Given the description of an element on the screen output the (x, y) to click on. 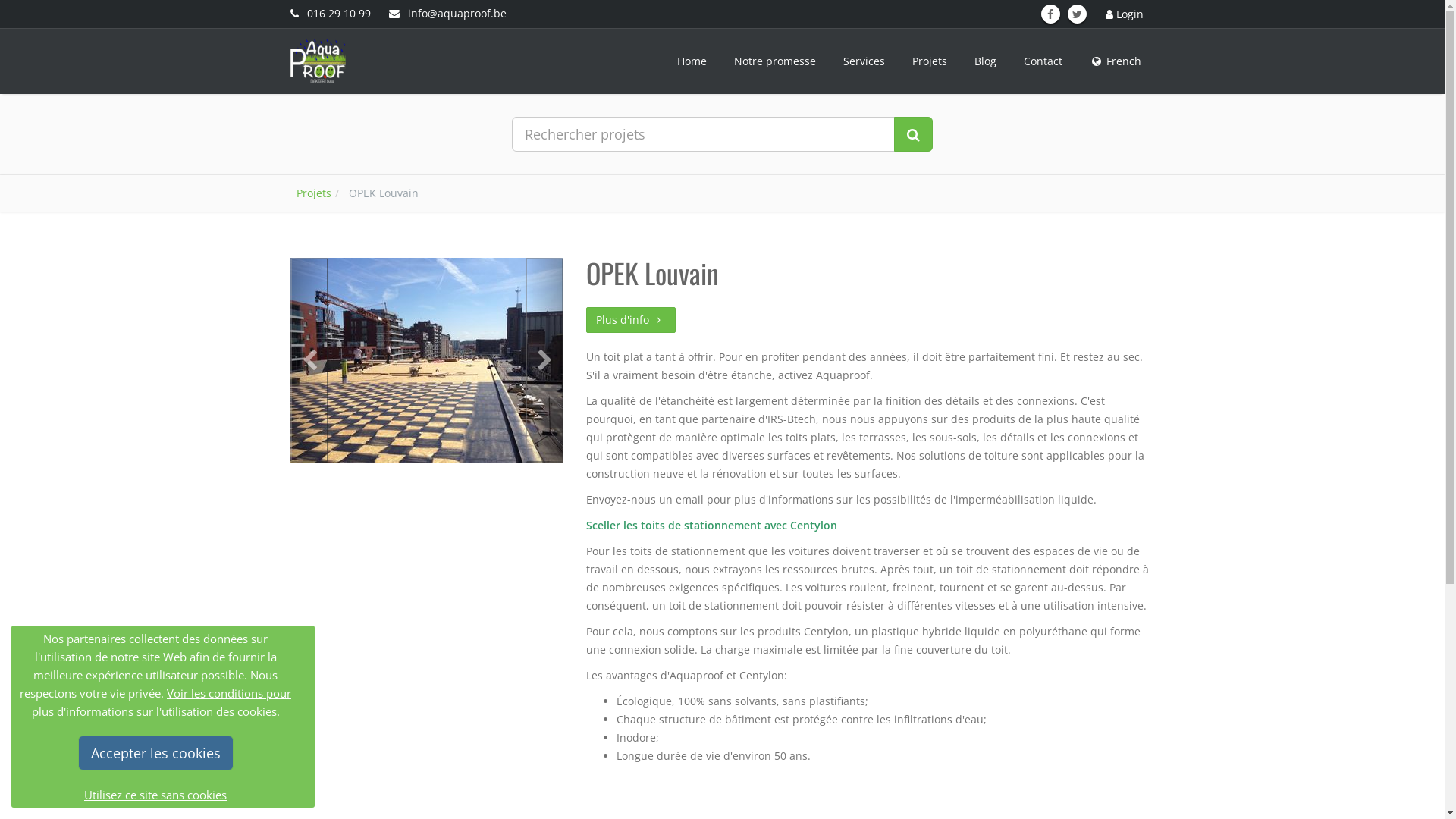
Projets Element type: text (312, 192)
info@aquaproof.be Element type: text (446, 13)
Utilisez ce site sans cookies Element type: text (155, 794)
French Element type: text (1114, 61)
Notre promesse Element type: text (774, 61)
Blog Element type: text (984, 61)
Services Element type: text (863, 61)
Projets Element type: text (928, 61)
Plus d'info Element type: text (629, 319)
Home Element type: text (690, 61)
Contact Element type: text (1043, 61)
016 29 10 99 Element type: text (329, 13)
Accepter les cookies Element type: text (154, 752)
Login Element type: text (1124, 13)
